Given the description of an element on the screen output the (x, y) to click on. 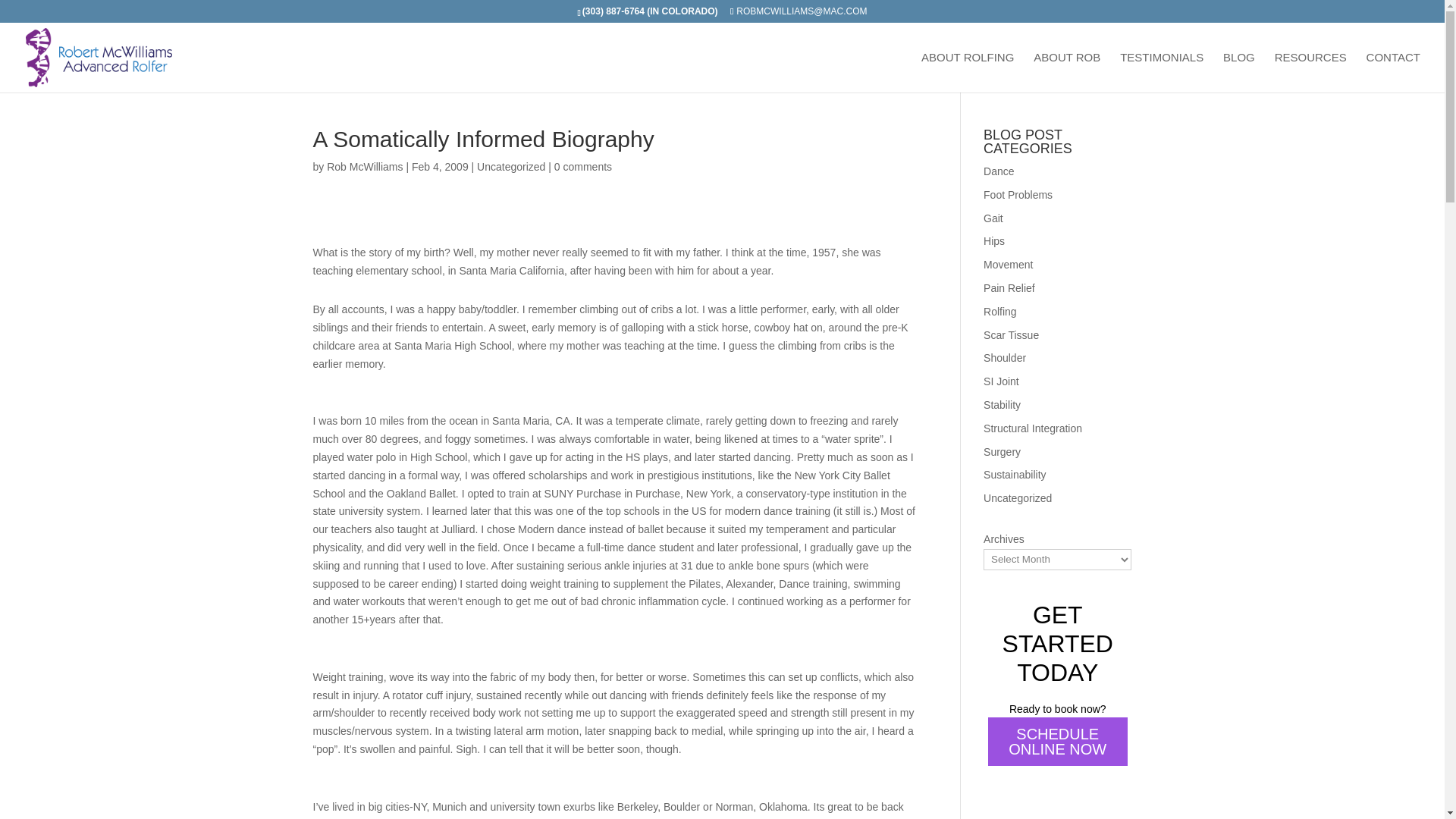
Sustainability (1015, 474)
Rob McWilliams (364, 166)
Rolfing (1000, 311)
SCHEDULE ONLINE NOW (1057, 741)
Pain Relief (1009, 287)
Foot Problems (1018, 194)
TESTIMONIALS (1161, 72)
Structural Integration (1032, 428)
ABOUT ROB (1066, 72)
0 comments (582, 166)
